Given the description of an element on the screen output the (x, y) to click on. 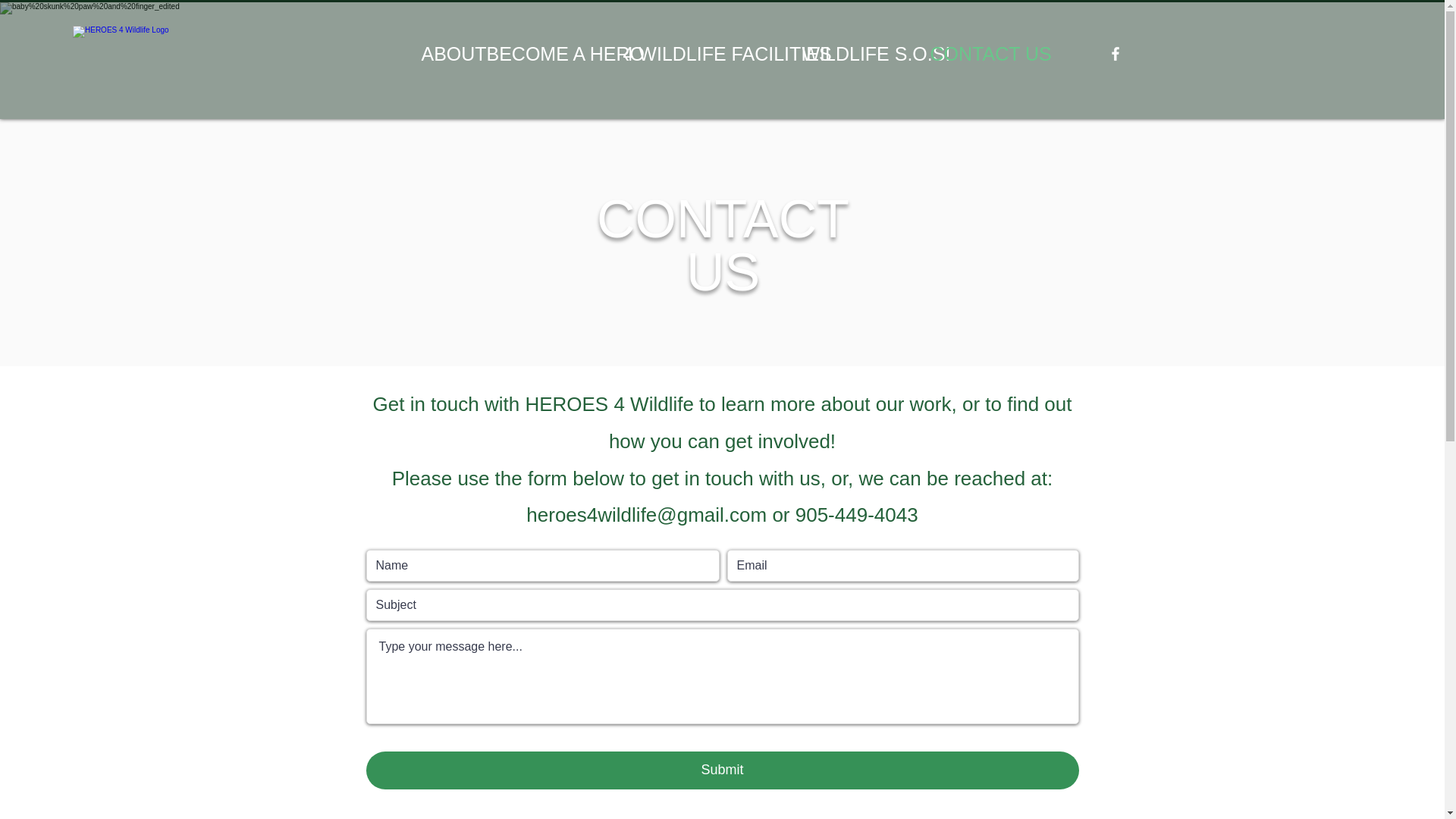
CONTACT US (975, 53)
ABOUT (446, 53)
BECOME A HERO (547, 53)
Submit (721, 770)
4 WILDLIFE FACILITIES (704, 53)
WILDLIFE S.O.S! (858, 53)
